Given the description of an element on the screen output the (x, y) to click on. 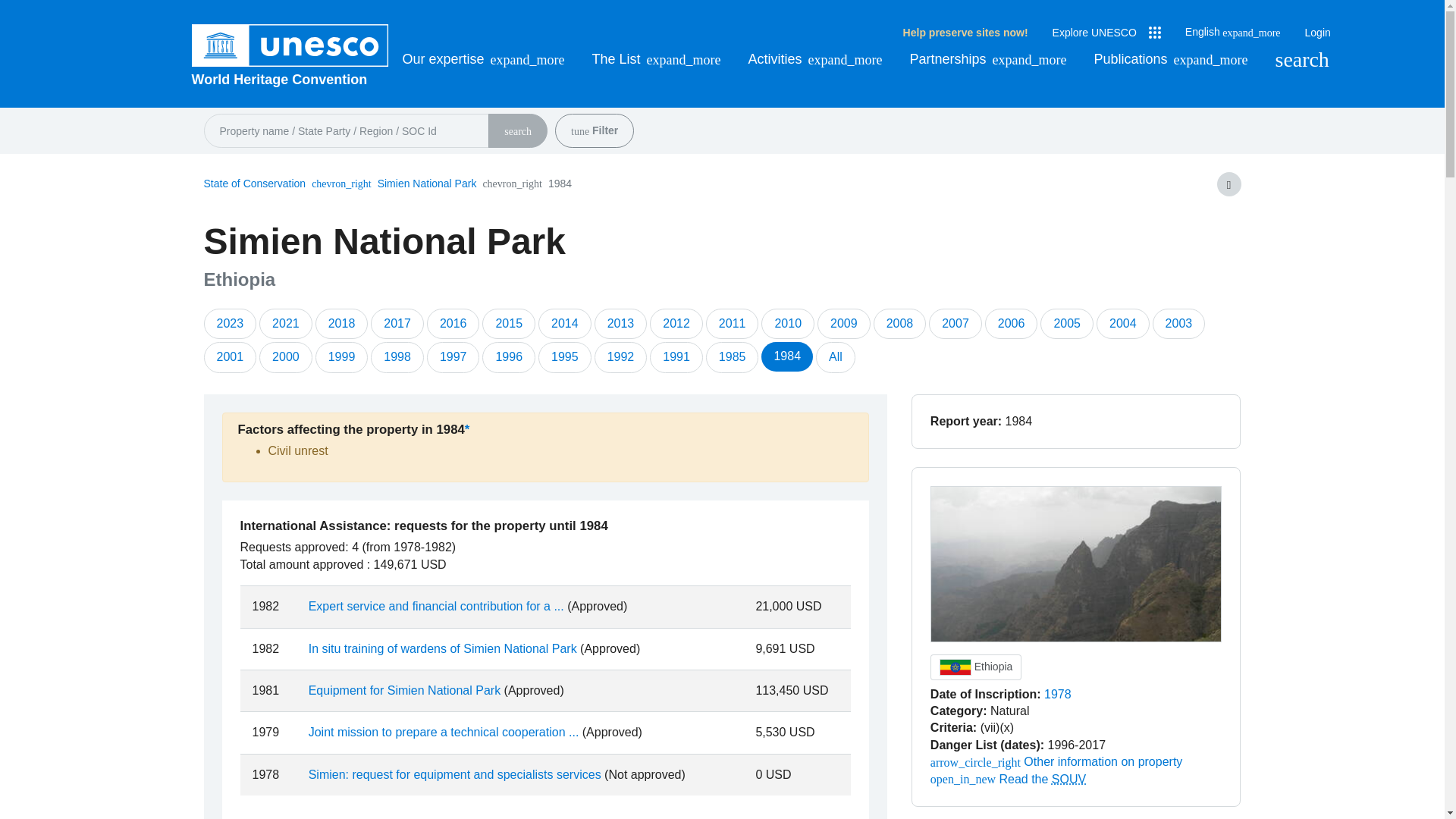
English (1233, 32)
Explore UNESCO (1106, 32)
Help preserve sites now! (964, 32)
World Heritage Convention (289, 79)
Consult this request (443, 731)
Filter your search (579, 131)
Search (1302, 59)
Consult this request (404, 689)
The List (656, 58)
Our expertise (482, 58)
Login (1317, 32)
Consult this request (442, 648)
Consult this request (454, 774)
Consult this request (436, 605)
